Given the description of an element on the screen output the (x, y) to click on. 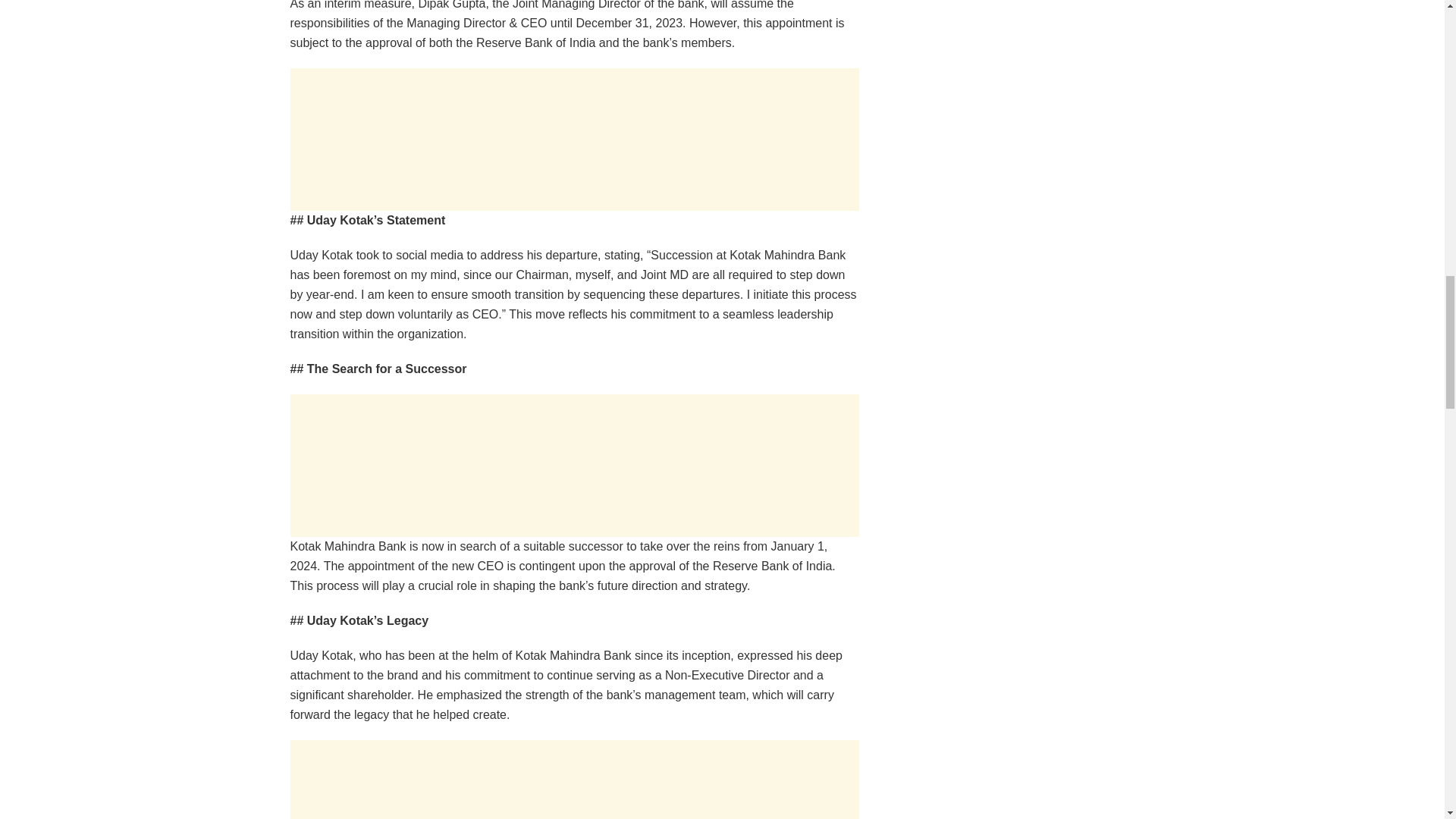
Advertisement (574, 138)
Advertisement (574, 779)
Advertisement (574, 465)
